Given the description of an element on the screen output the (x, y) to click on. 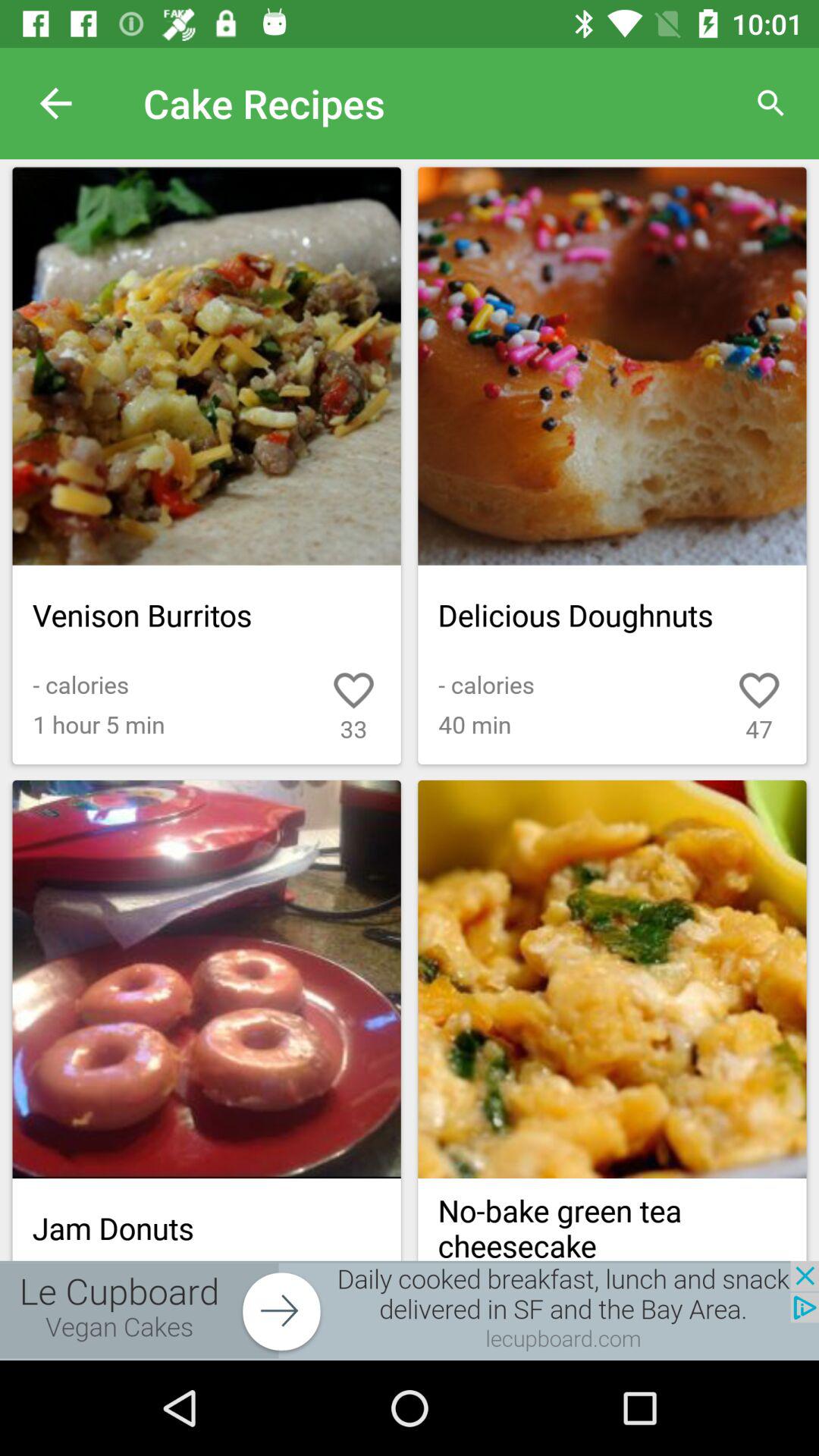
the fourth image of the page (611, 978)
enter the text under fourth image (612, 1218)
select the search option on the top right (771, 103)
